Given the description of an element on the screen output the (x, y) to click on. 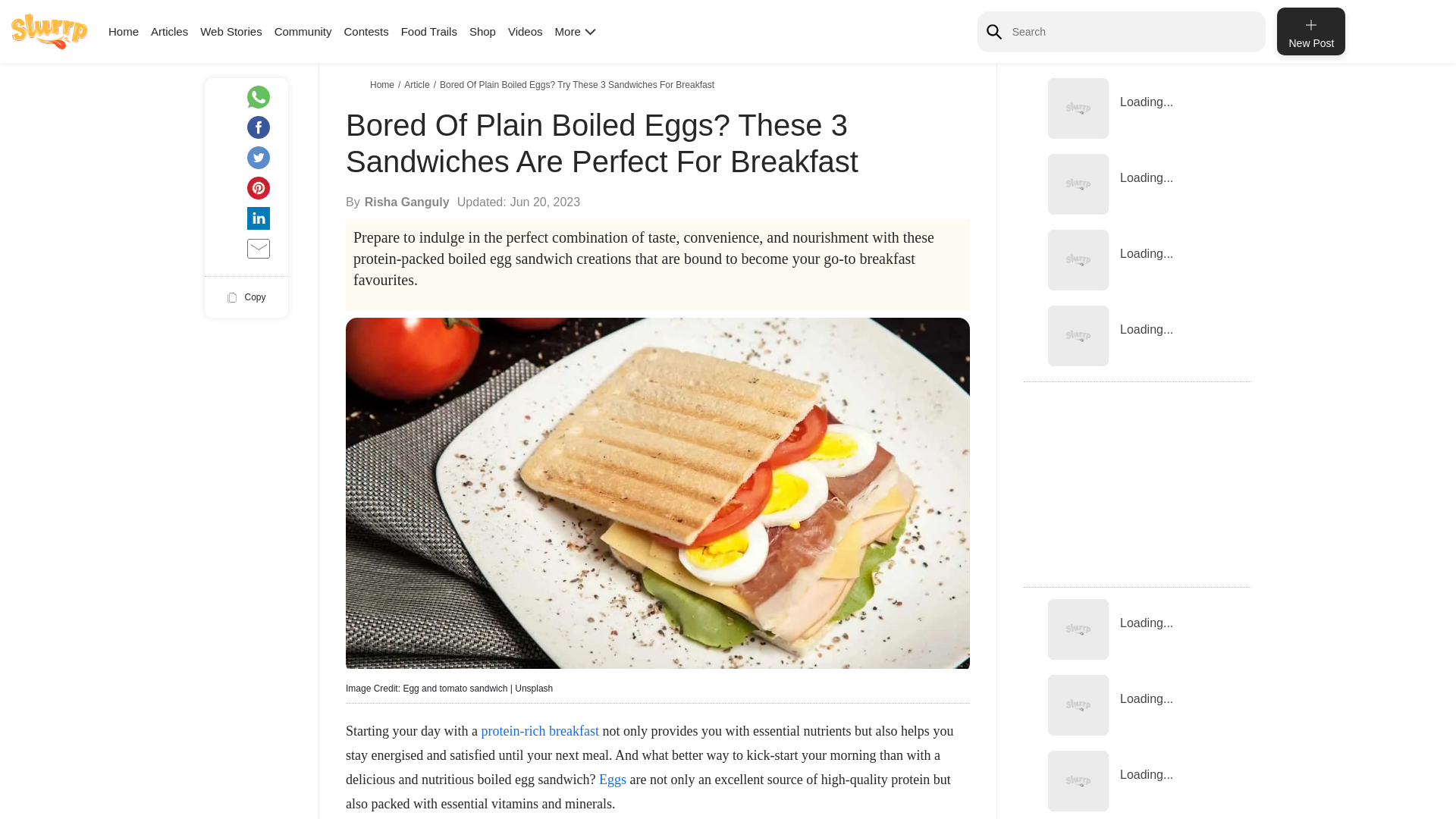
Videos (525, 31)
Shop (482, 31)
New Post (1310, 31)
Home (383, 84)
Articles (169, 31)
Home (122, 31)
Article (418, 84)
Food Trails (429, 31)
Web Stories (231, 31)
Community (303, 31)
Contests (365, 31)
